Given the description of an element on the screen output the (x, y) to click on. 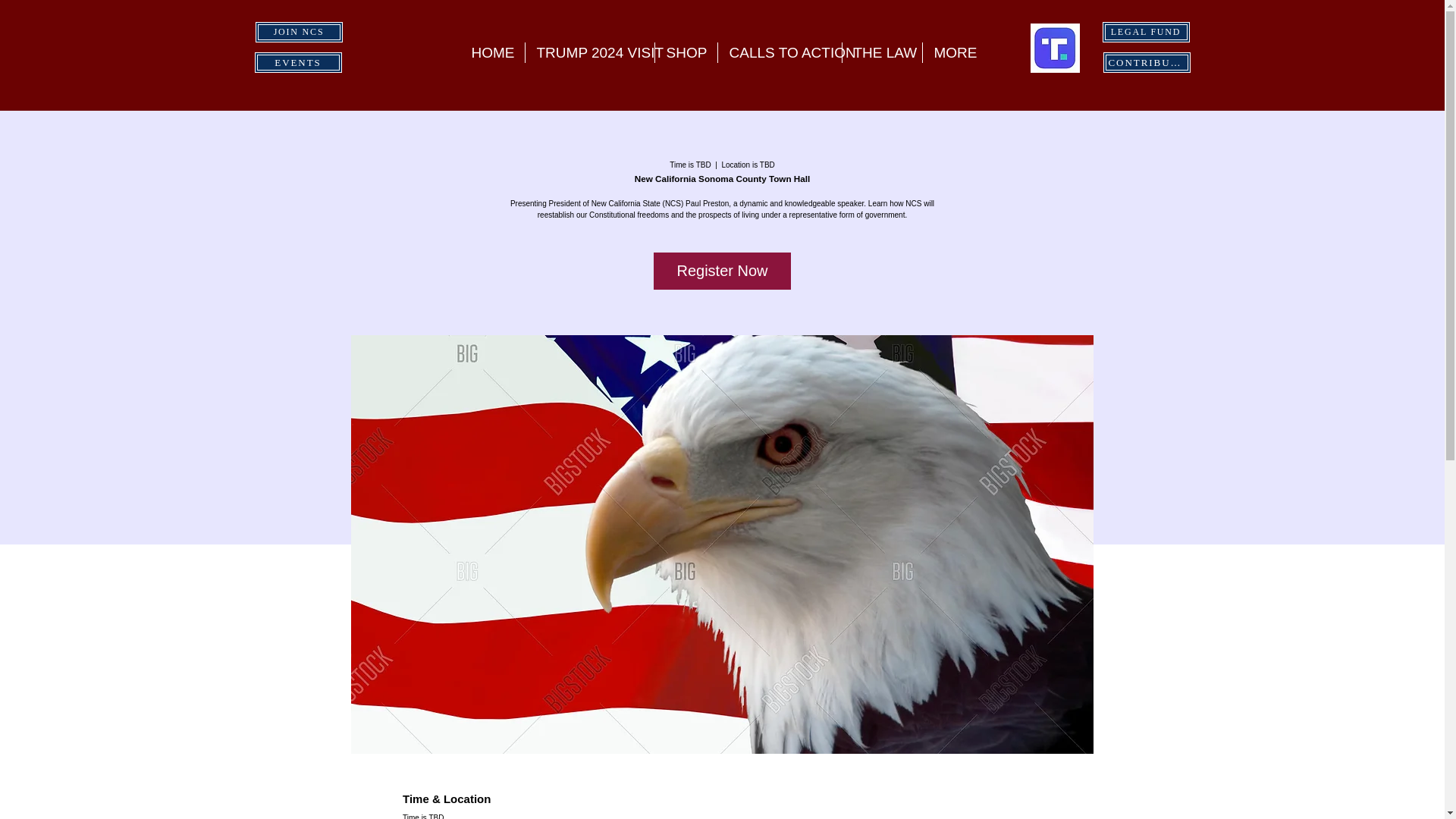
THE LAW (881, 52)
EVENTS (298, 62)
CALLS TO ACTION (779, 52)
SHOP (686, 52)
JOIN NCS (298, 32)
TRUMP 2024 VISIT (588, 52)
HOME (492, 52)
